Given the description of an element on the screen output the (x, y) to click on. 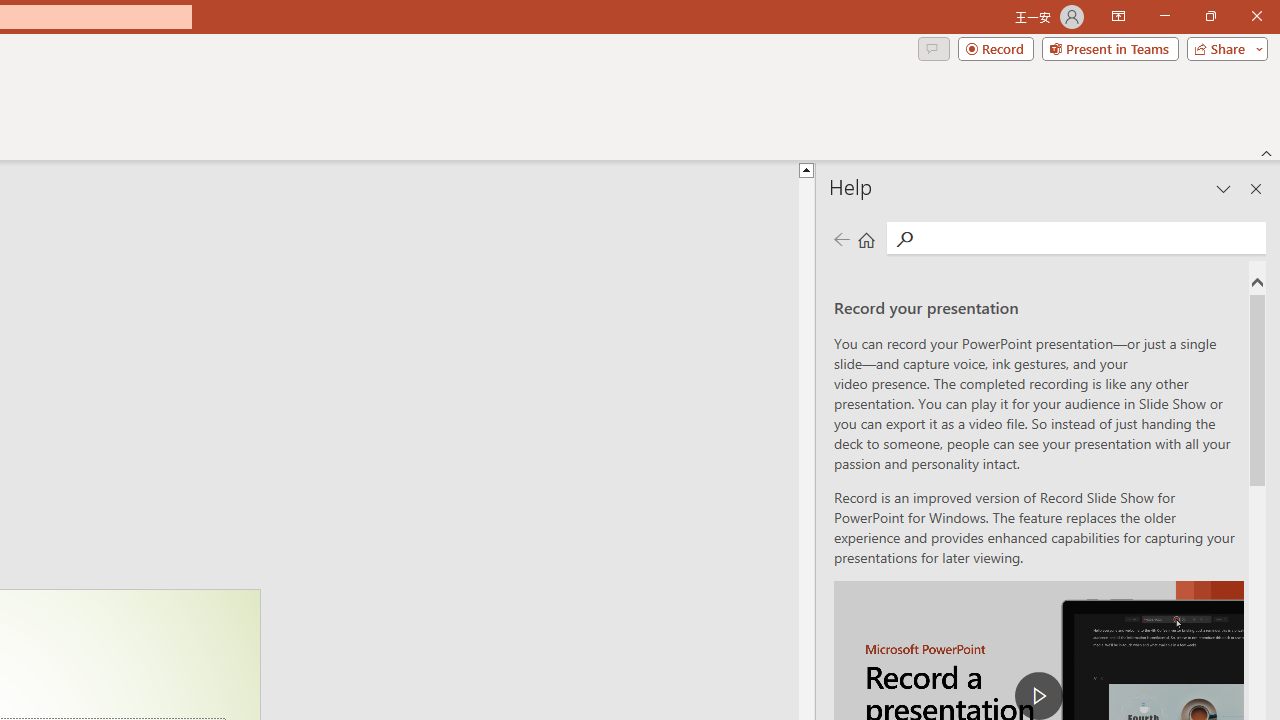
Previous page (841, 238)
Search (1089, 237)
